Given the description of an element on the screen output the (x, y) to click on. 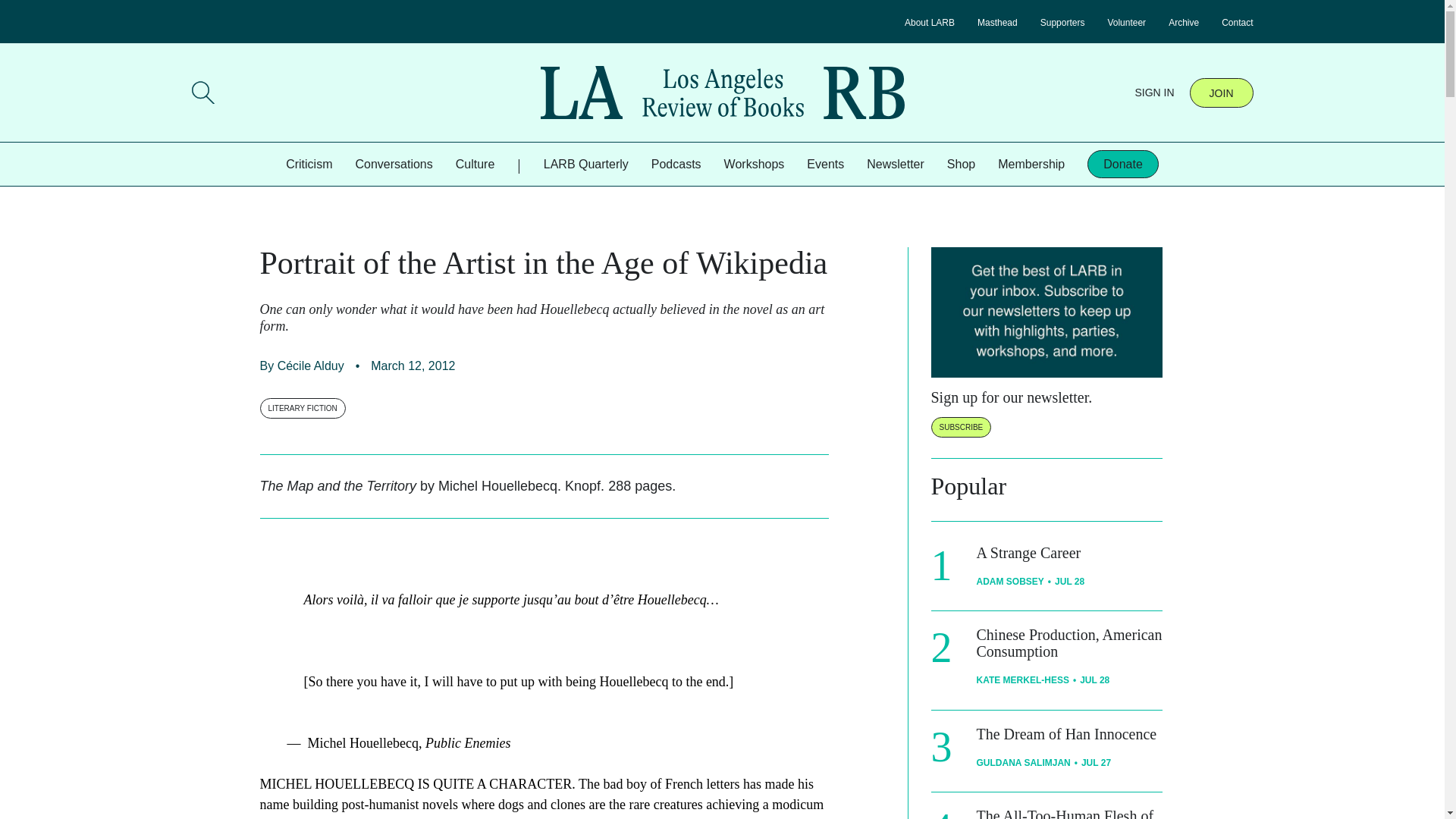
Membership (1030, 163)
LITERARY FICTION (302, 408)
Events (825, 163)
LARB Quarterly (585, 163)
Newsletter (895, 163)
Culture (475, 163)
A Strange Career (1028, 552)
Supporters (1062, 22)
SUBSCRIBE (961, 426)
JOIN (1221, 91)
Archive (1183, 22)
Volunteer (1125, 22)
Chinese Production, American Consumption (1068, 643)
ADAM SOBSEY (1009, 581)
Sign up for our newsletter. (1012, 397)
